Given the description of an element on the screen output the (x, y) to click on. 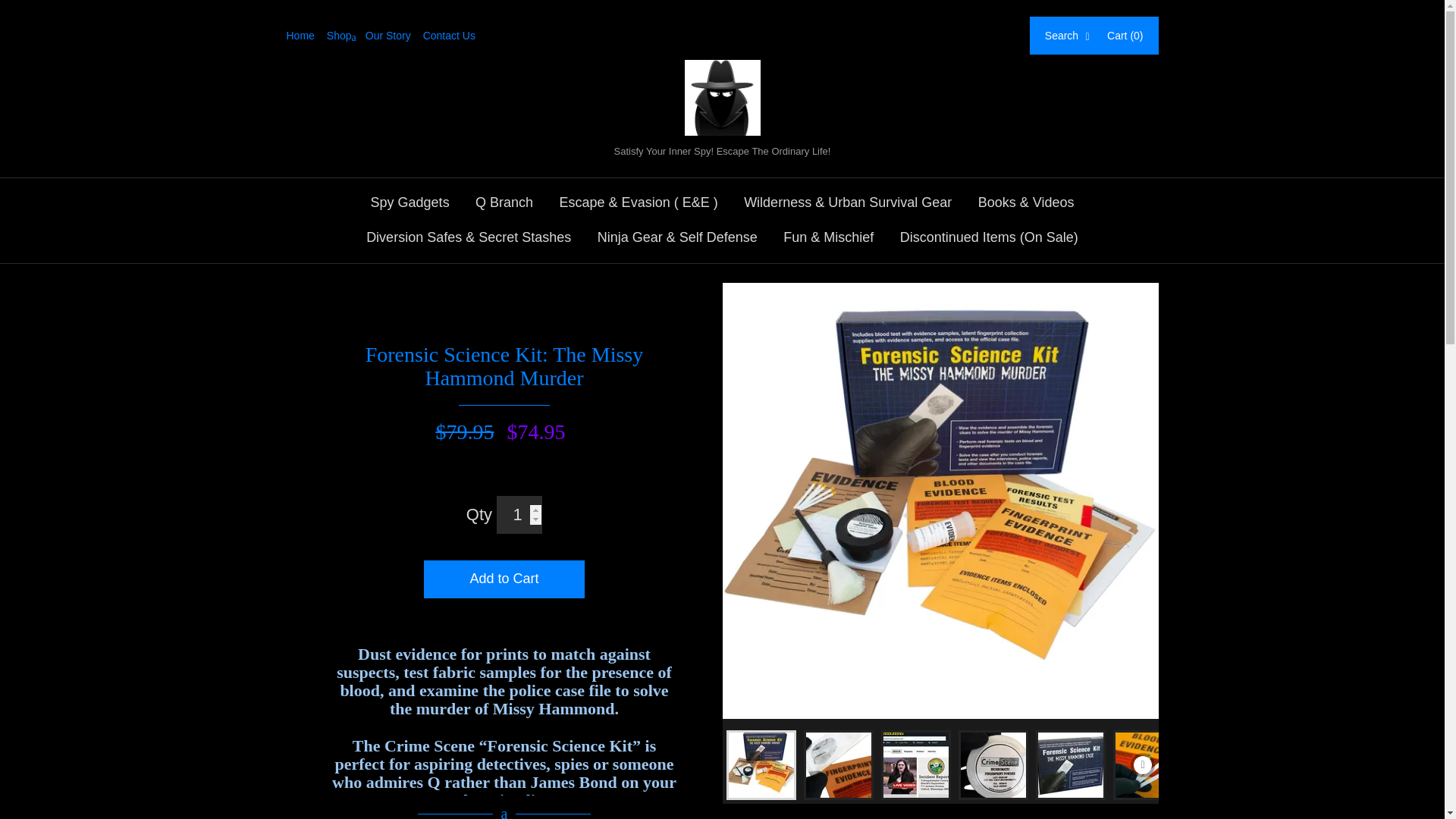
Shop (345, 35)
Add to Cart (503, 579)
Q Branch (504, 202)
Add to Cart (503, 579)
Our Story (394, 35)
Search (1068, 35)
Contact Us (455, 35)
1 (518, 514)
Home (306, 35)
Spy Gadgets (410, 202)
